Given the description of an element on the screen output the (x, y) to click on. 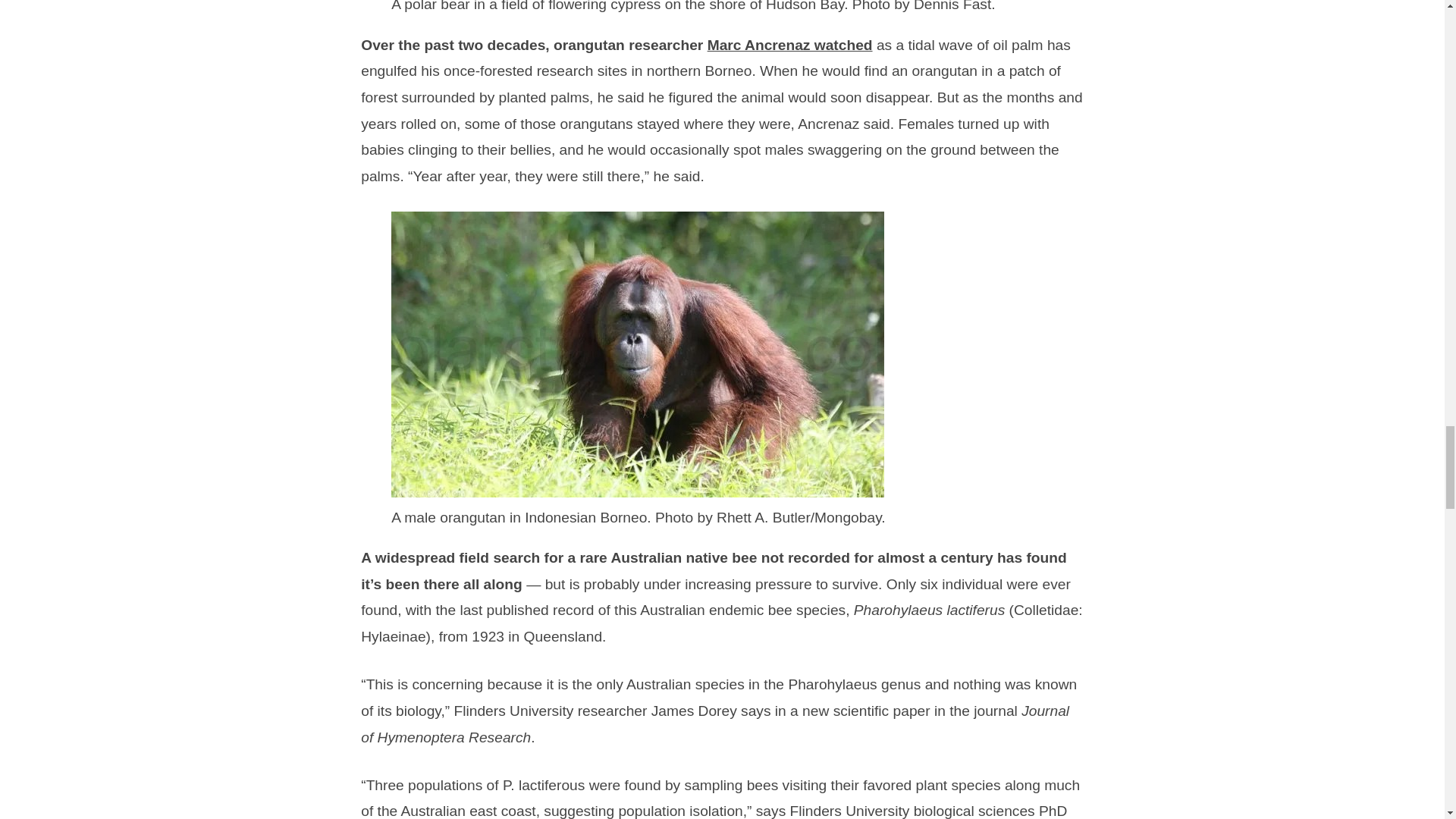
Marc Ancrenaz watched (789, 44)
